Given the description of an element on the screen output the (x, y) to click on. 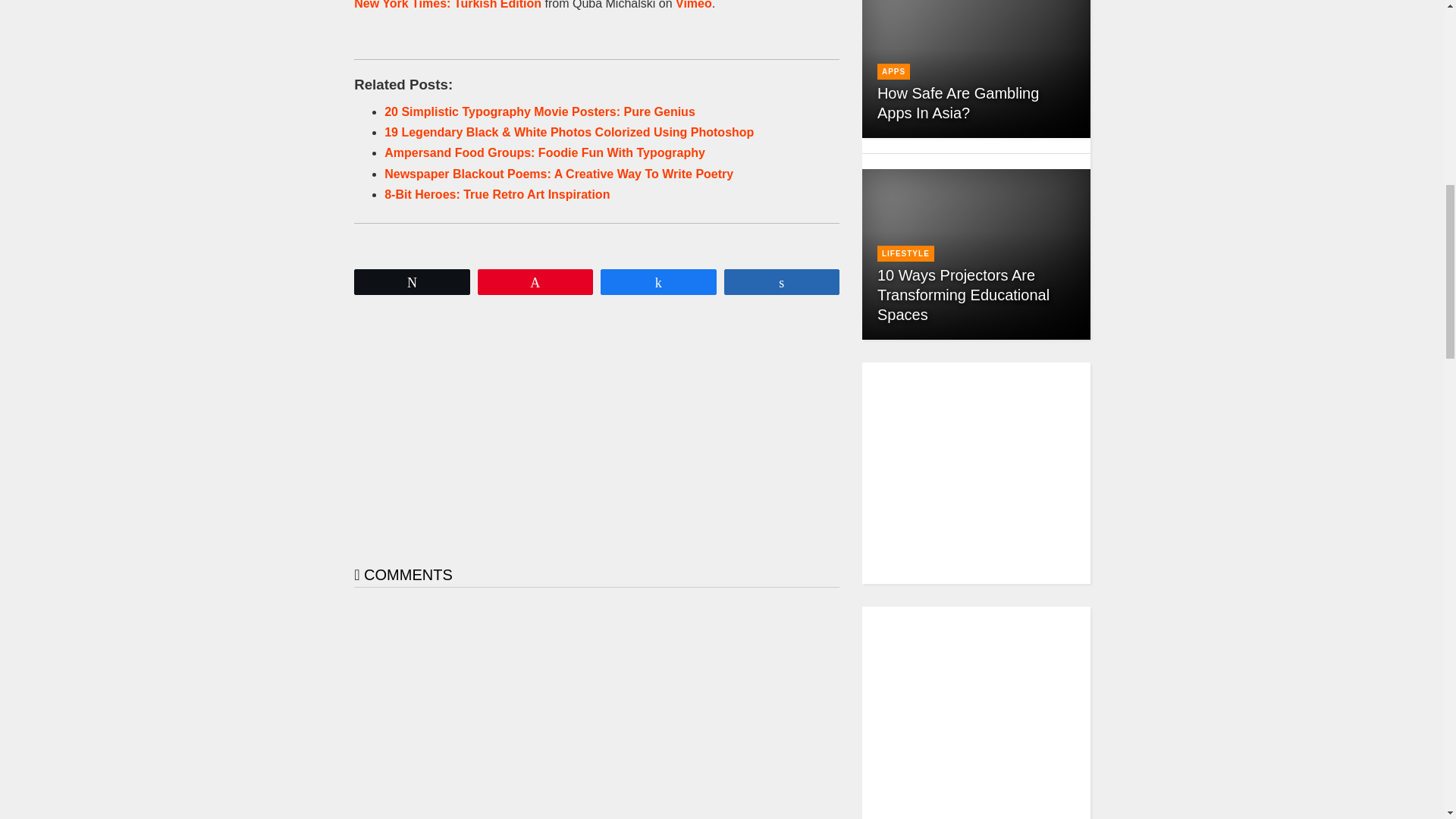
How Safe Are Gambling Apps In Asia? (958, 103)
20 Simplistic Typography Movie Posters: Pure Genius (539, 111)
10 Ways Projectors Are Transforming Educational Spaces (963, 294)
Advertisement (631, 423)
New York Times: Turkish Edition (447, 4)
8-Bit Heroes: True Retro Art Inspiration (497, 194)
Ampersand Food Groups: Foodie Fun With Typography (544, 152)
Vimeo (693, 4)
Newspaper Blackout Poems: A Creative Way To Write Poetry (558, 173)
